Given the description of an element on the screen output the (x, y) to click on. 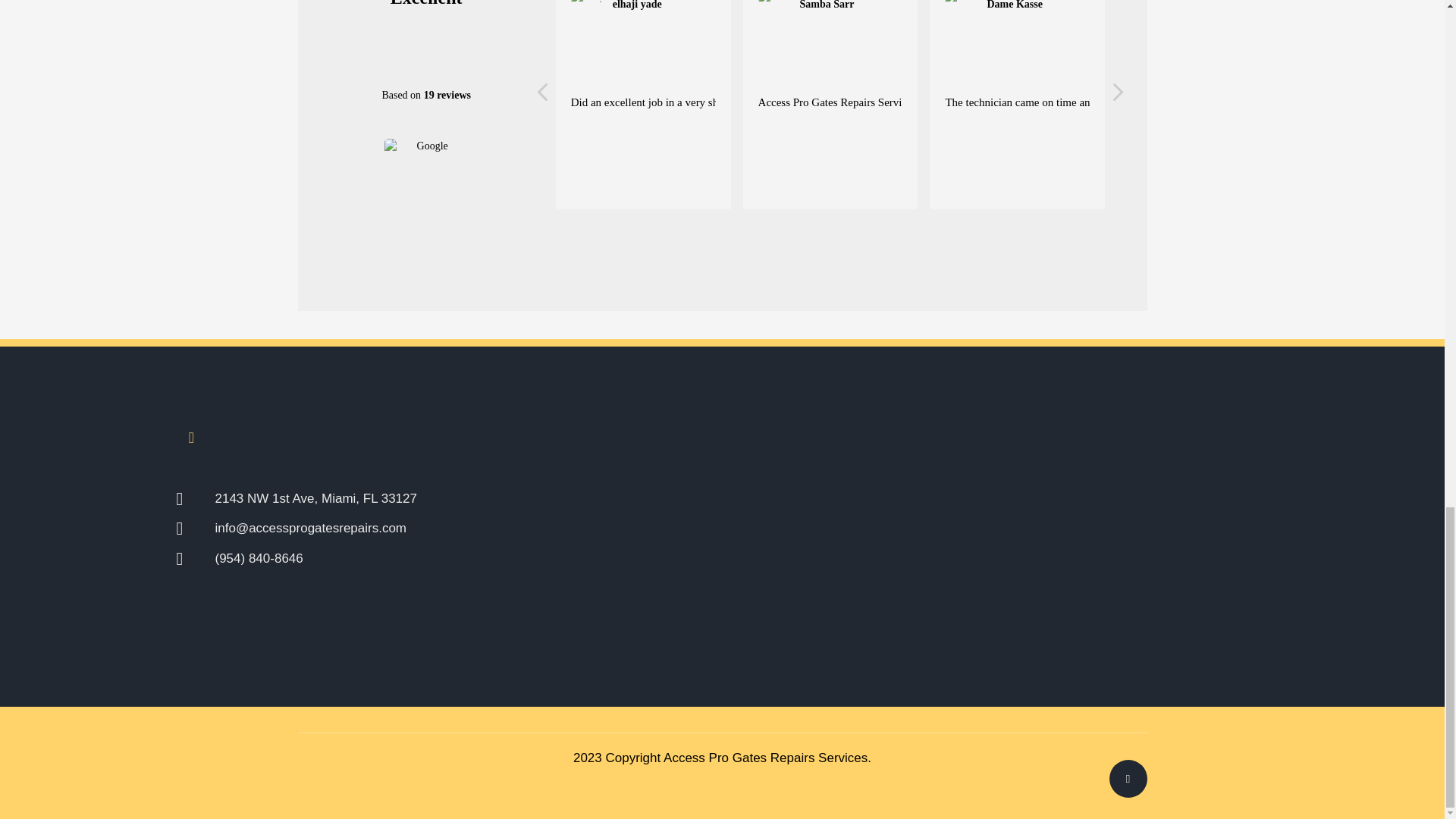
Facebook (191, 437)
Access Pro Gates Repairs Services (765, 757)
2143 NW 1st Ave, Miami, FL 33127 (408, 498)
